Given the description of an element on the screen output the (x, y) to click on. 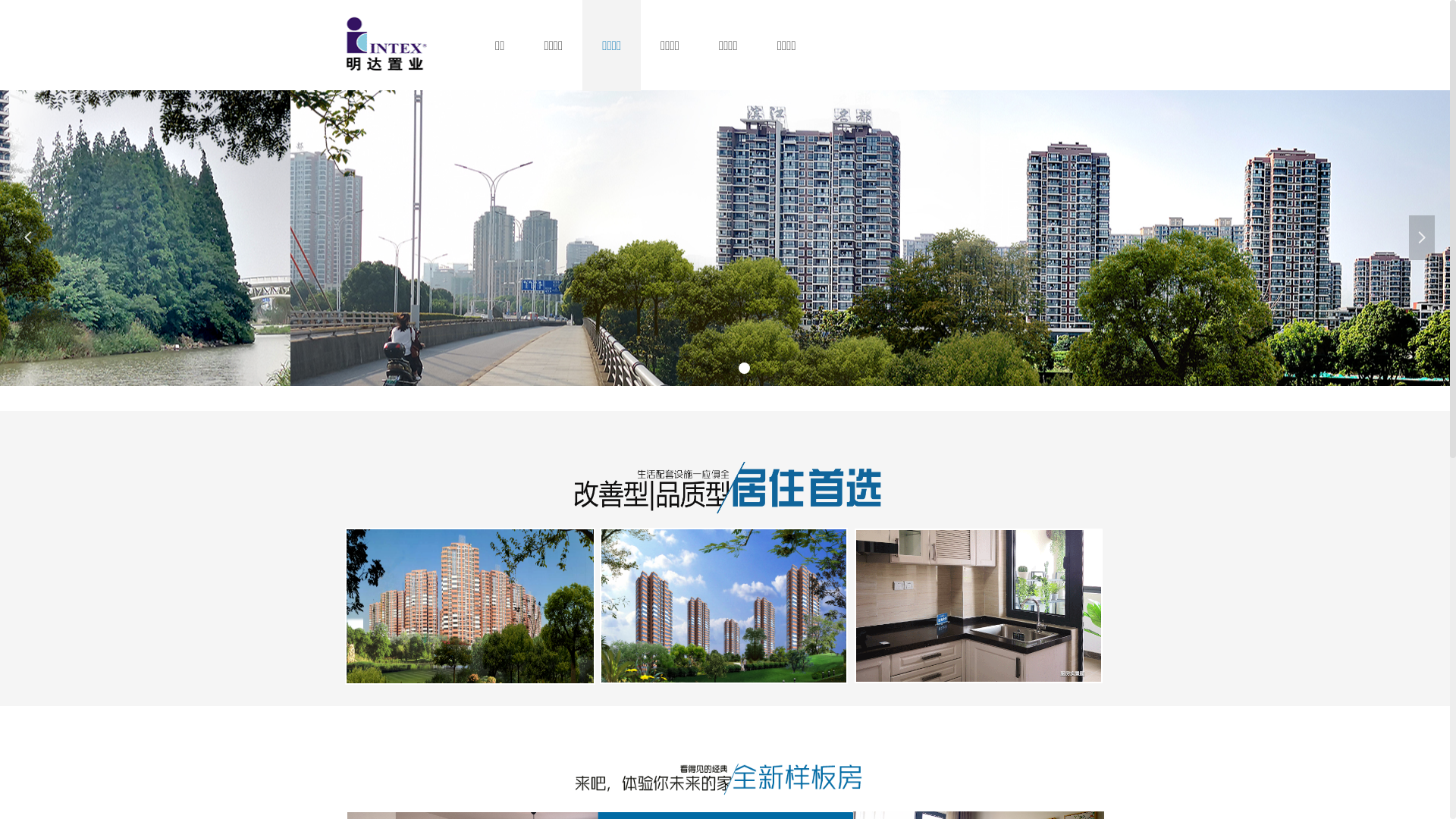
s06 Element type: hover (712, 776)
1 Element type: hover (723, 605)
8501956 Element type: hover (387, 44)
